Given the description of an element on the screen output the (x, y) to click on. 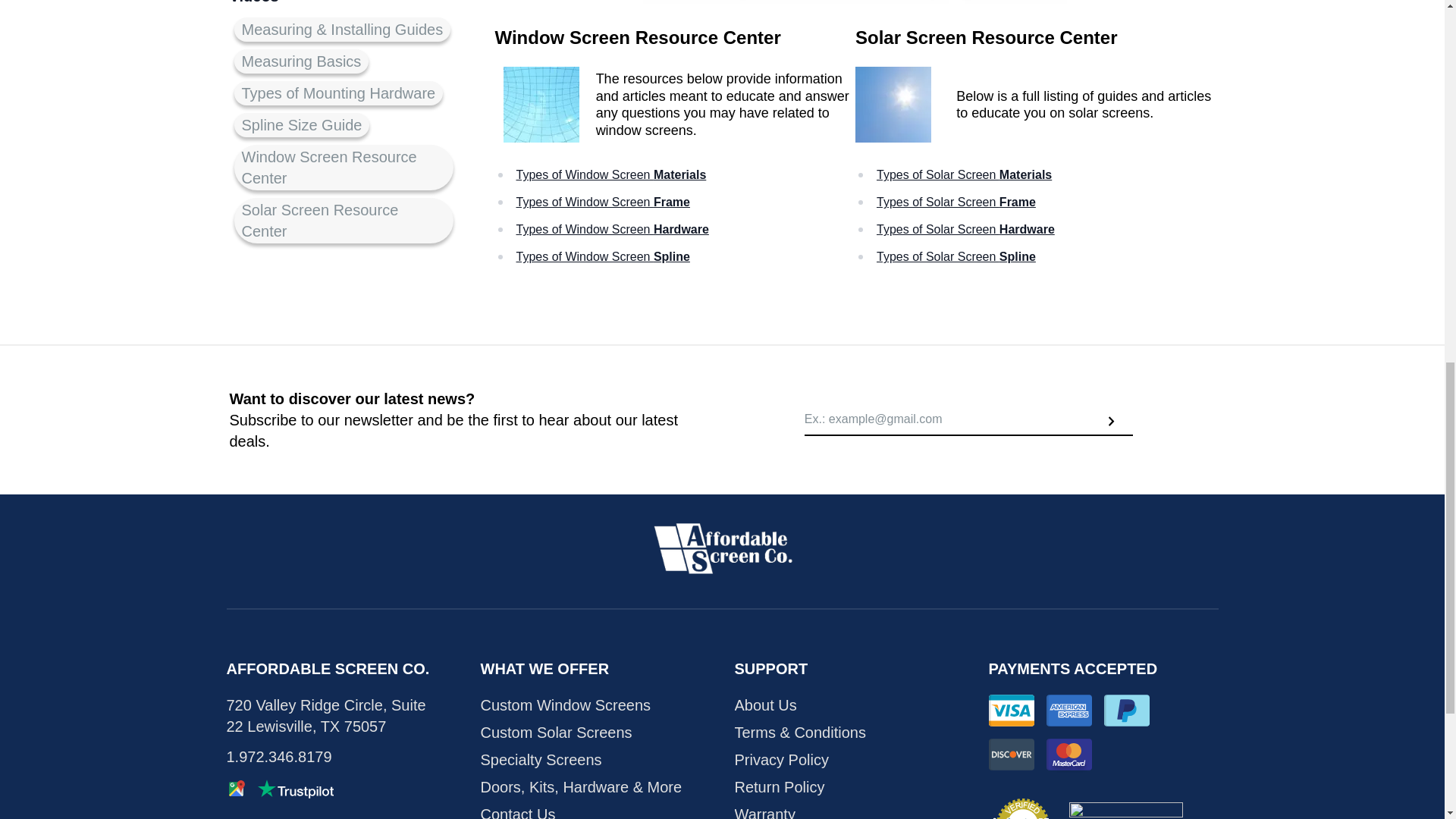
Affordable Window Screens (721, 548)
Show map (234, 788)
